Given the description of an element on the screen output the (x, y) to click on. 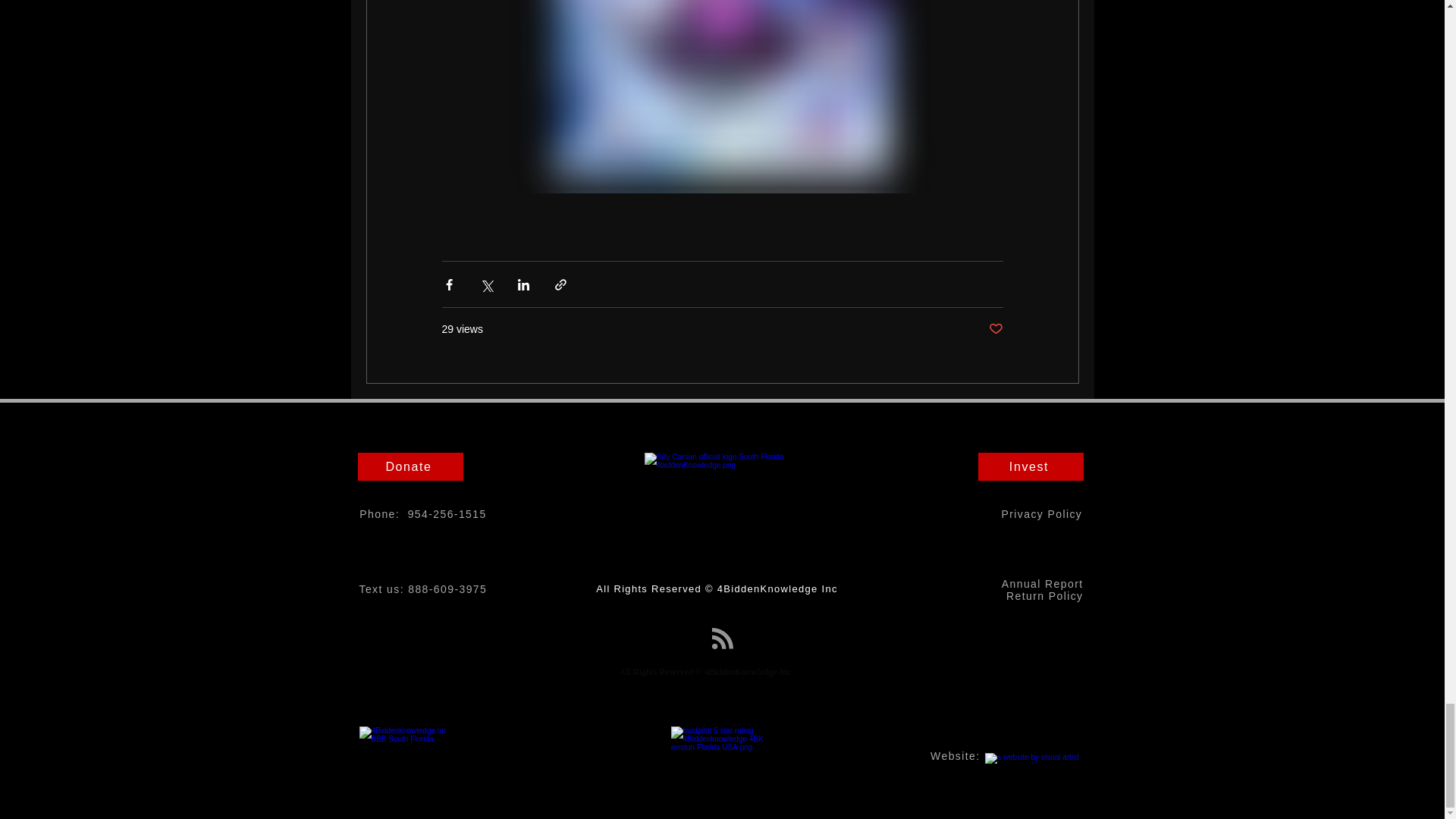
4BiddenKnowledge (722, 514)
